Given the description of an element on the screen output the (x, y) to click on. 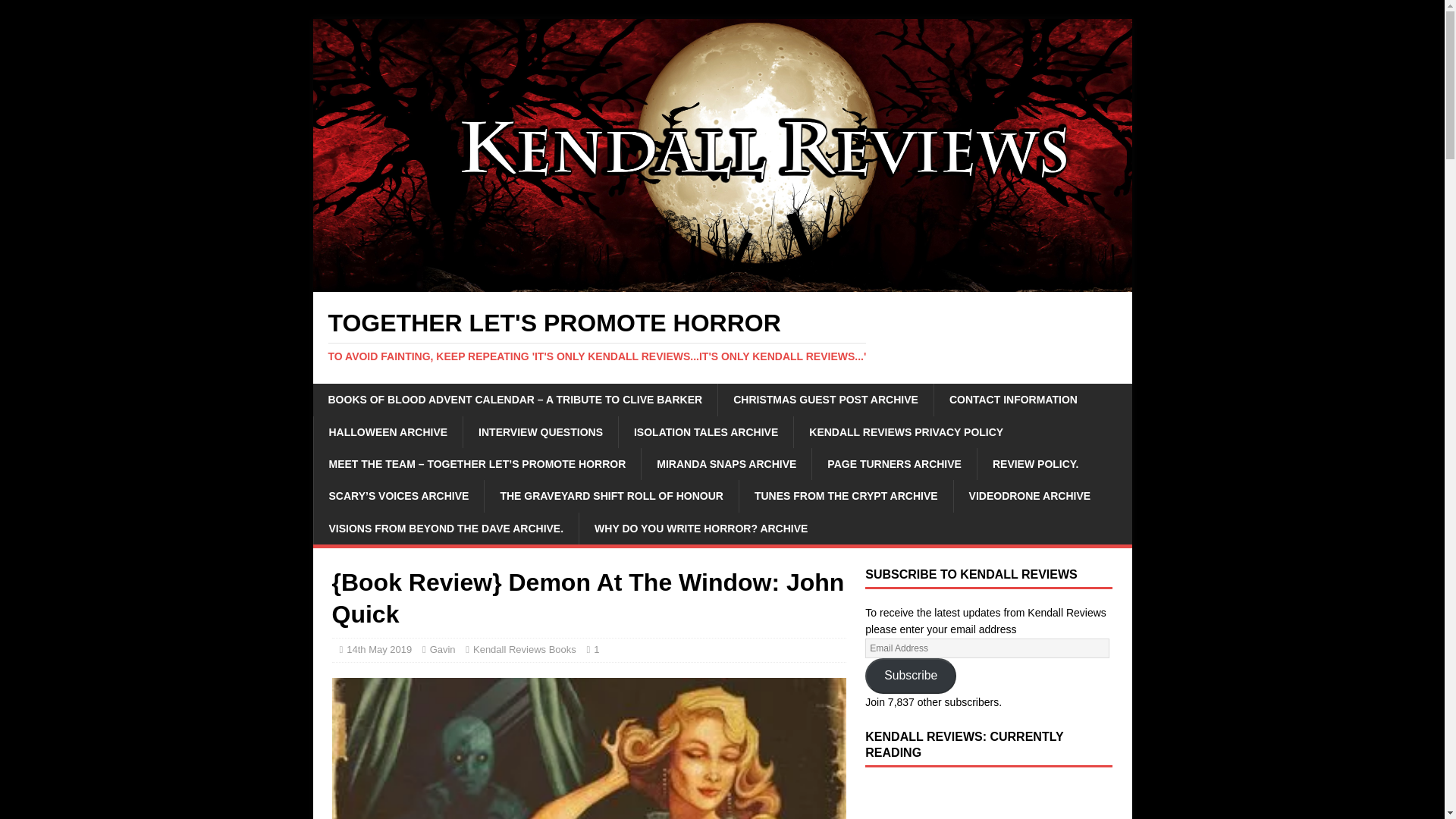
KENDALL REVIEWS PRIVACY POLICY (905, 431)
HALLOWEEN ARCHIVE (388, 431)
MIRANDA SNAPS ARCHIVE (725, 463)
TUNES FROM THE CRYPT ARCHIVE (845, 495)
VISIONS FROM BEYOND THE DAVE ARCHIVE. (445, 528)
THE GRAVEYARD SHIFT ROLL OF HONOUR (610, 495)
CHRISTMAS GUEST POST ARCHIVE (825, 399)
CONTACT INFORMATION (1013, 399)
PAGE TURNERS ARCHIVE (893, 463)
